Given the description of an element on the screen output the (x, y) to click on. 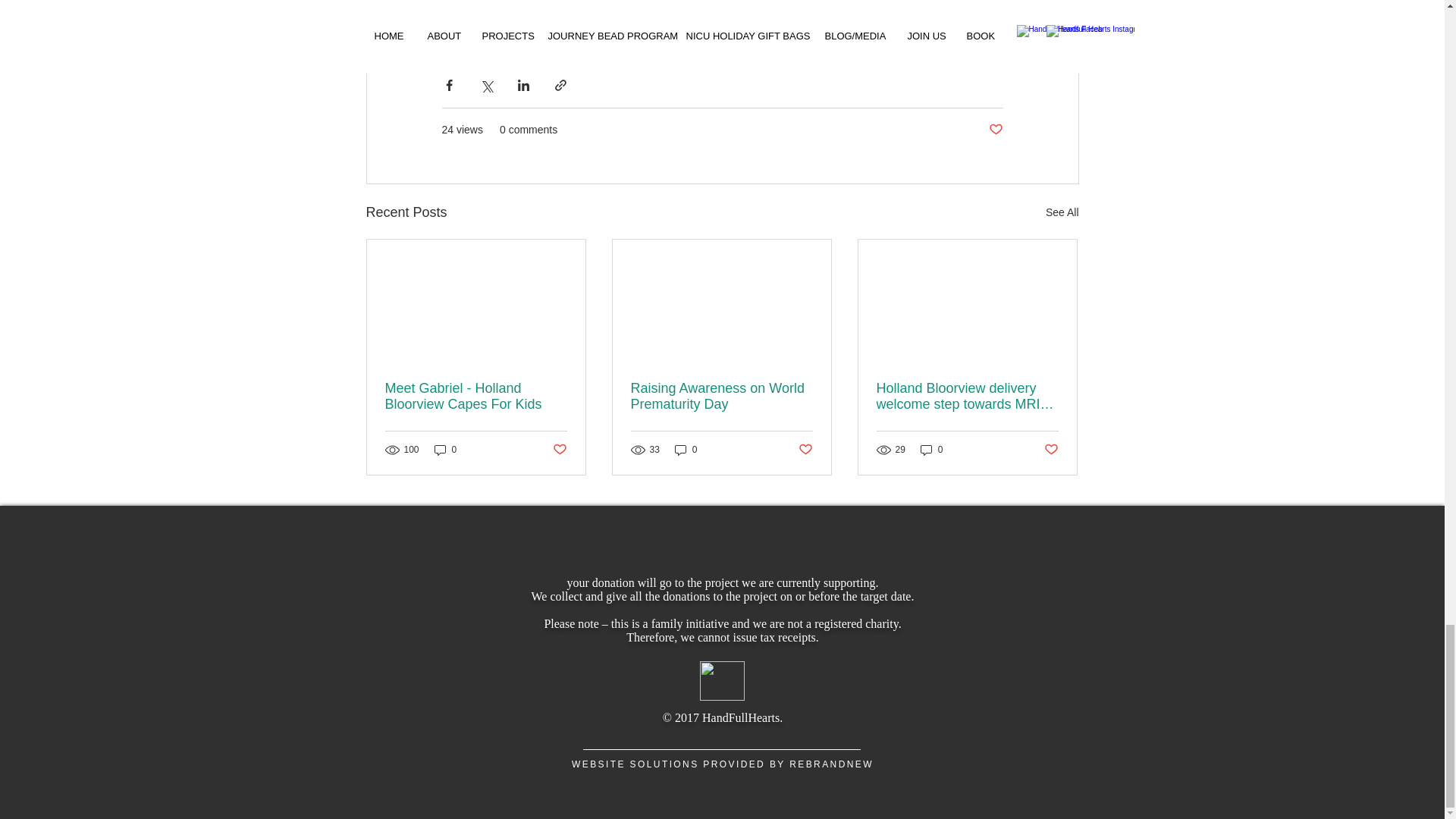
REBRANDNEW (831, 764)
handfull hearts white.png (721, 680)
See All (1061, 212)
Holland Bloorview delivery welcome step towards MRI suite (967, 396)
Post not marked as liked (558, 449)
Meet Gabriel - Holland Bloorview Capes For Kids (476, 396)
Post not marked as liked (1050, 449)
0 (685, 450)
Raising Awareness on World Prematurity Day (721, 396)
Post not marked as liked (804, 449)
